Given the description of an element on the screen output the (x, y) to click on. 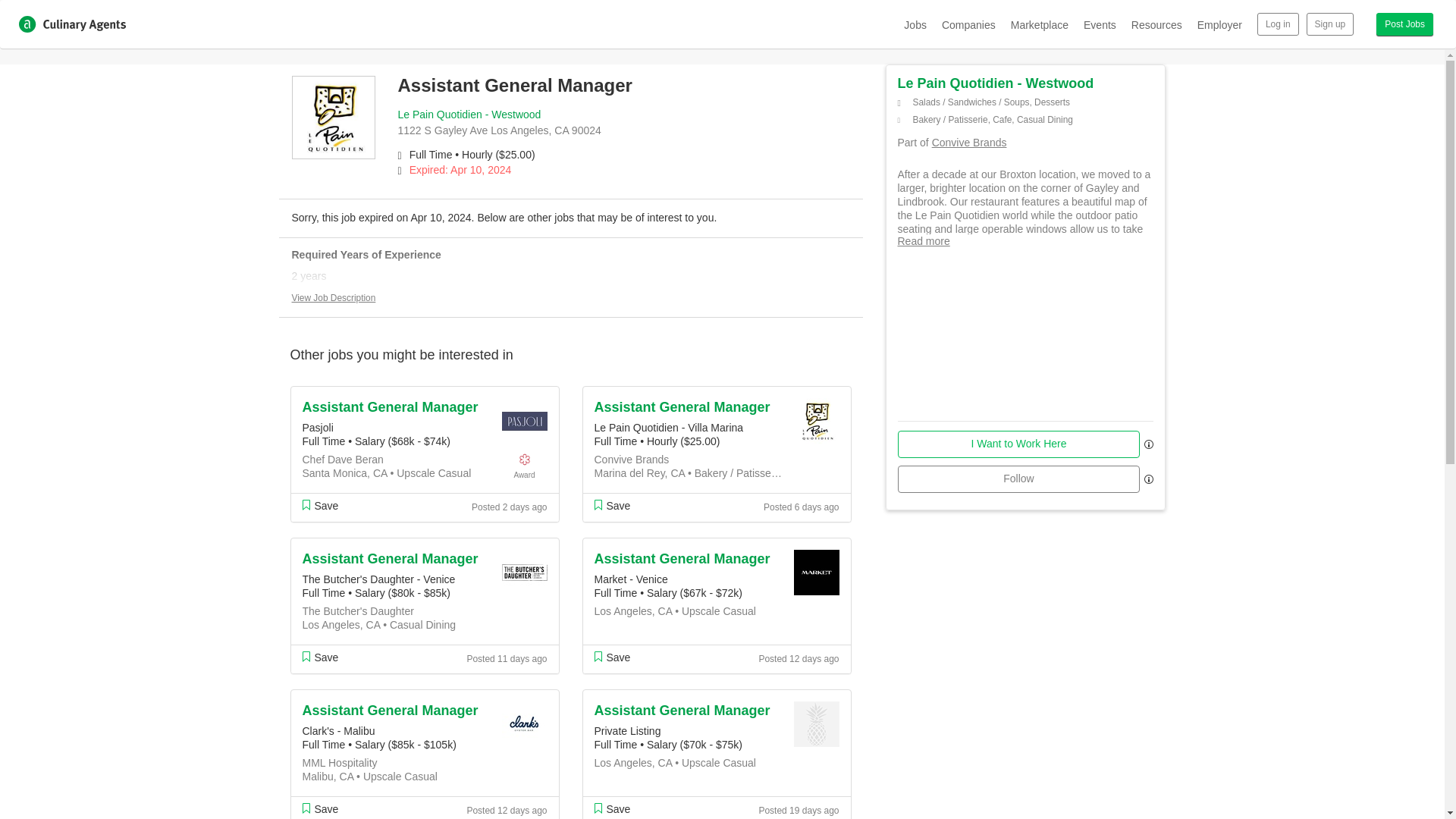
Marketplace (1039, 24)
Convive Brands (969, 142)
Save (319, 657)
Sign up (1330, 24)
Le Pain Quotidien - Westwood (468, 114)
Resources (1156, 24)
Save (319, 505)
Save (612, 505)
Post Jobs (1403, 24)
Companies (968, 24)
